Given the description of an element on the screen output the (x, y) to click on. 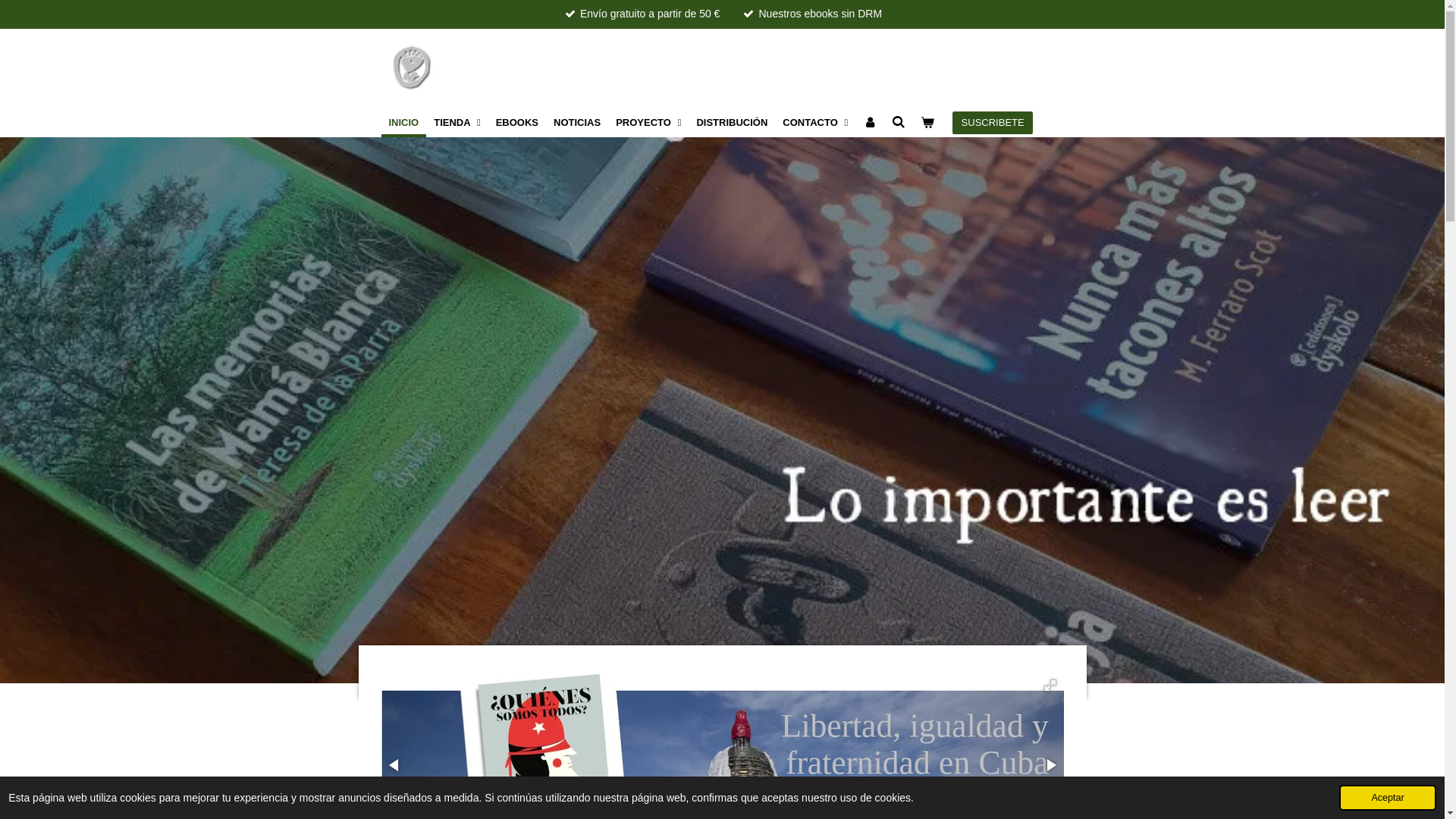
Aceptar Element type: text (1387, 797)
Ver carrito Element type: hover (927, 122)
EBOOKS Element type: text (517, 122)
ediciones dyskolo Element type: hover (409, 68)
SUSCRIBETE Element type: text (992, 122)
CONTACTO Element type: text (815, 122)
Cuenta Element type: hover (869, 122)
NOTICIAS Element type: text (577, 122)
Buscar Element type: hover (898, 122)
PROYECTO Element type: text (648, 122)
TIENDA Element type: text (456, 122)
INICIO Element type: text (403, 122)
